Given the description of an element on the screen output the (x, y) to click on. 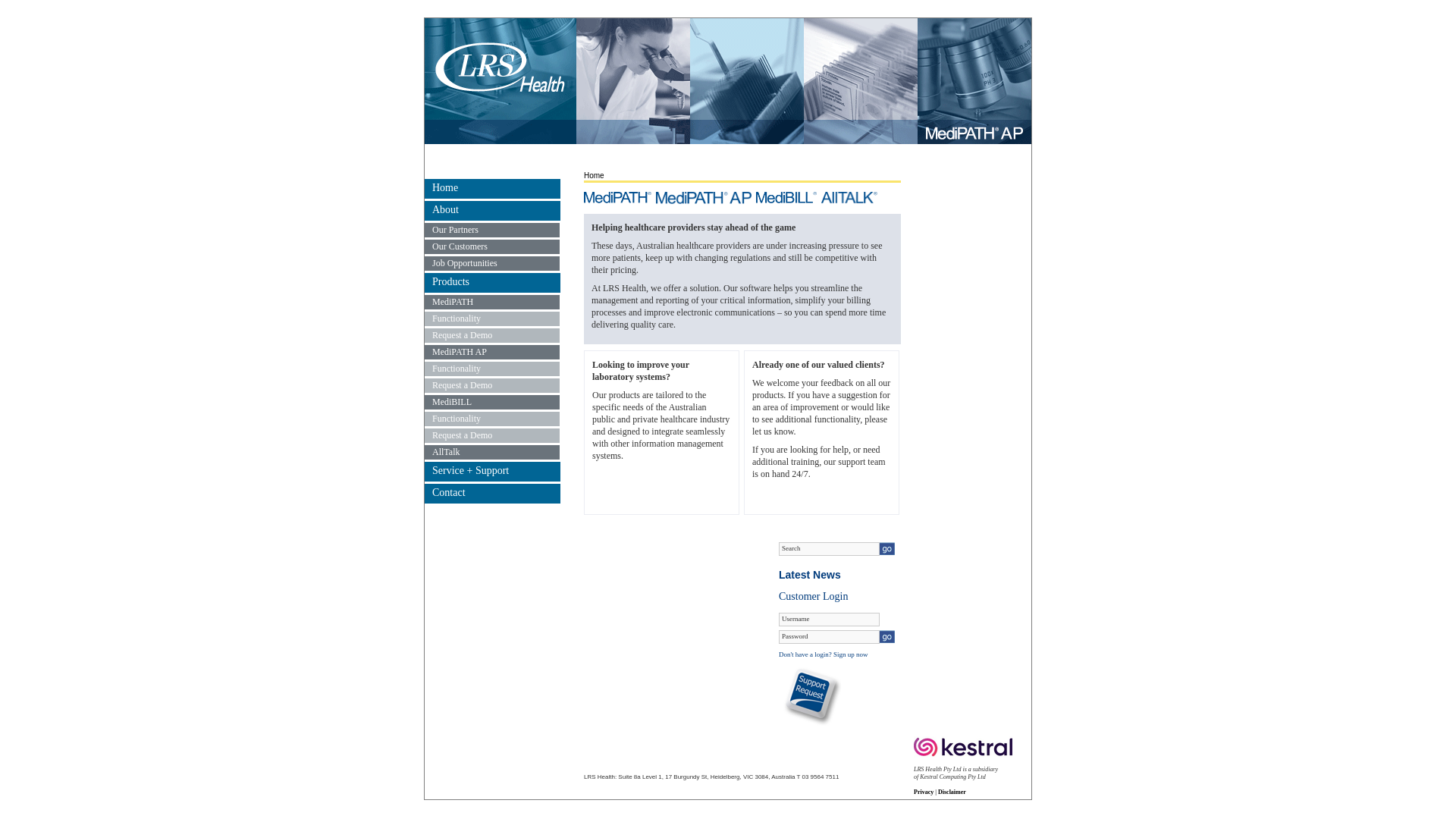
Functionality Element type: text (491, 418)
Don't have a login? Sign up now Element type: text (823, 654)
Service + Support Element type: text (492, 471)
Disclaimer Element type: text (952, 791)
medipath-AP-logo-colour-r Element type: hover (703, 197)
AllTalk Element type: text (491, 452)
About Element type: text (492, 210)
alltalk-logo-colour Element type: hover (849, 197)
Request a Demo Element type: text (491, 435)
Contact Element type: text (492, 493)
Privacy Element type: text (923, 791)
medibill-logo-colour Element type: hover (786, 197)
Functionality Element type: text (491, 318)
MediPATH AP Element type: text (491, 352)
Functionality Element type: text (491, 368)
Our Customers Element type: text (491, 246)
Request a Demo Element type: text (491, 335)
MediPATH Element type: text (491, 301)
Request a Demo Element type: text (491, 385)
Job Opportunities Element type: text (491, 263)
Home Element type: text (492, 188)
medipath-logo-colour Element type: hover (617, 197)
Our Partners Element type: text (491, 229)
MediBILL Element type: text (491, 402)
Products Element type: text (492, 282)
